Given the description of an element on the screen output the (x, y) to click on. 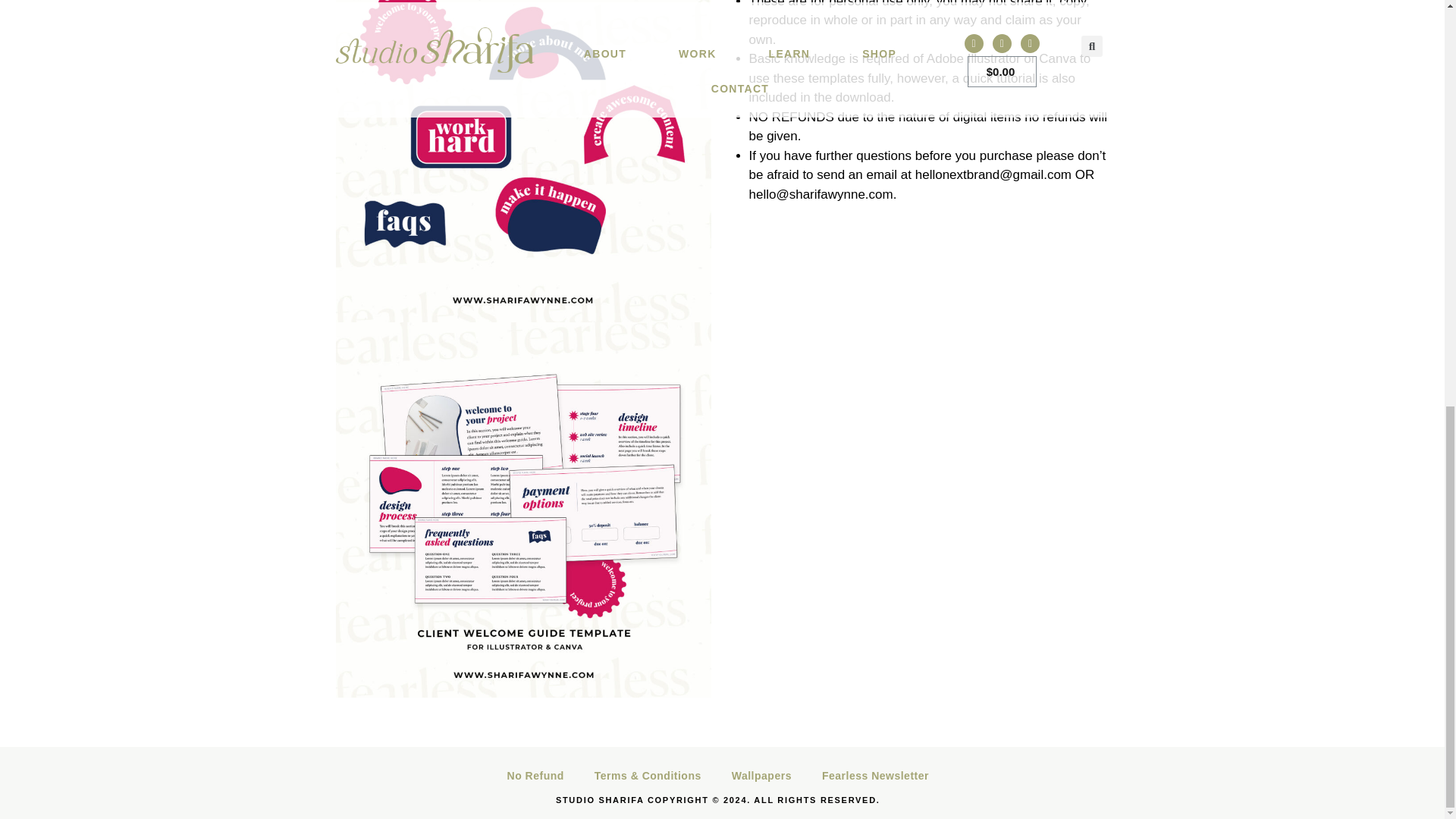
No Refund (535, 775)
Wallpapers (761, 775)
Fearless Newsletter (874, 775)
